Given the description of an element on the screen output the (x, y) to click on. 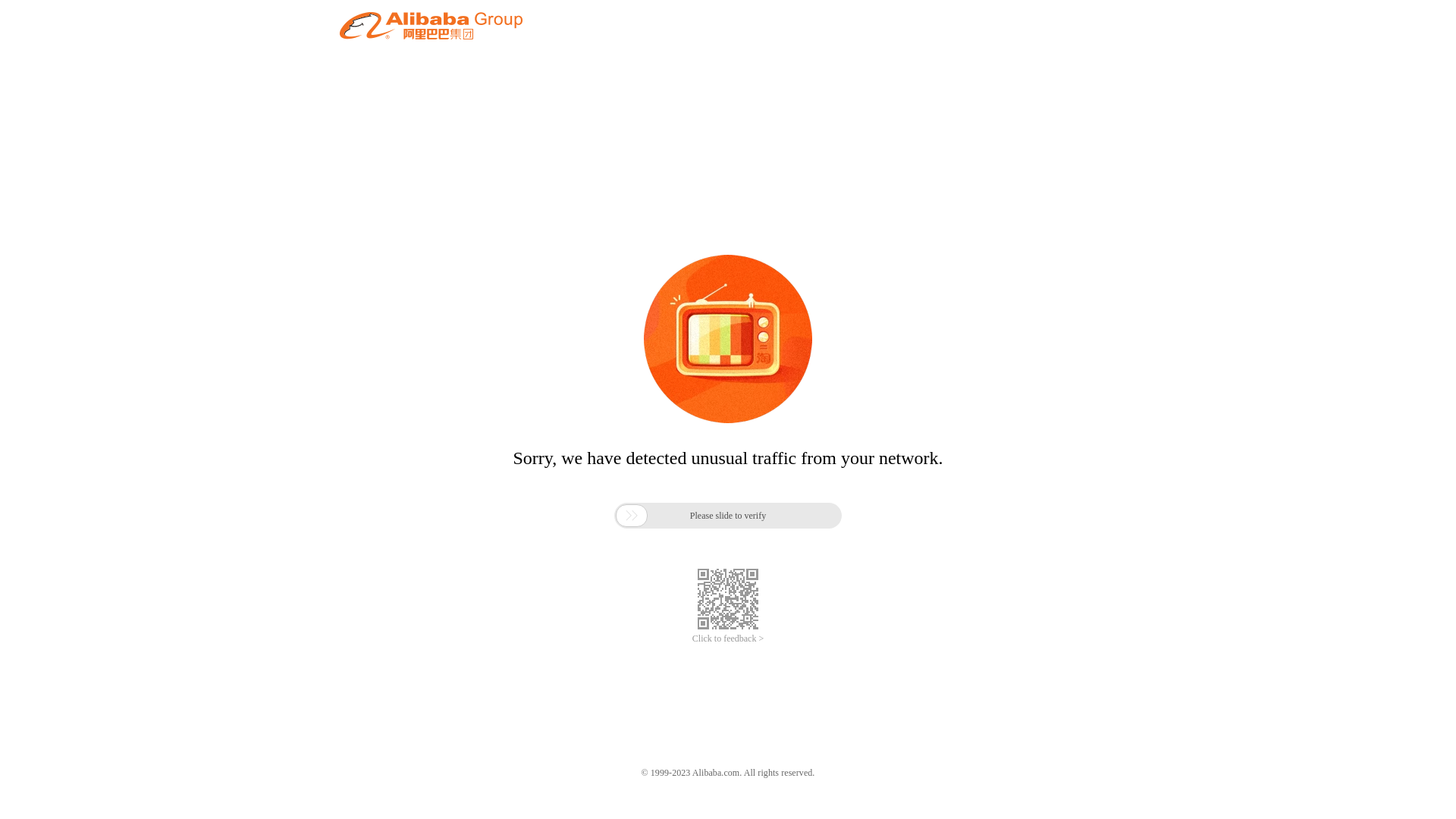
Click to feedback > Element type: text (727, 638)
